Given the description of an element on the screen output the (x, y) to click on. 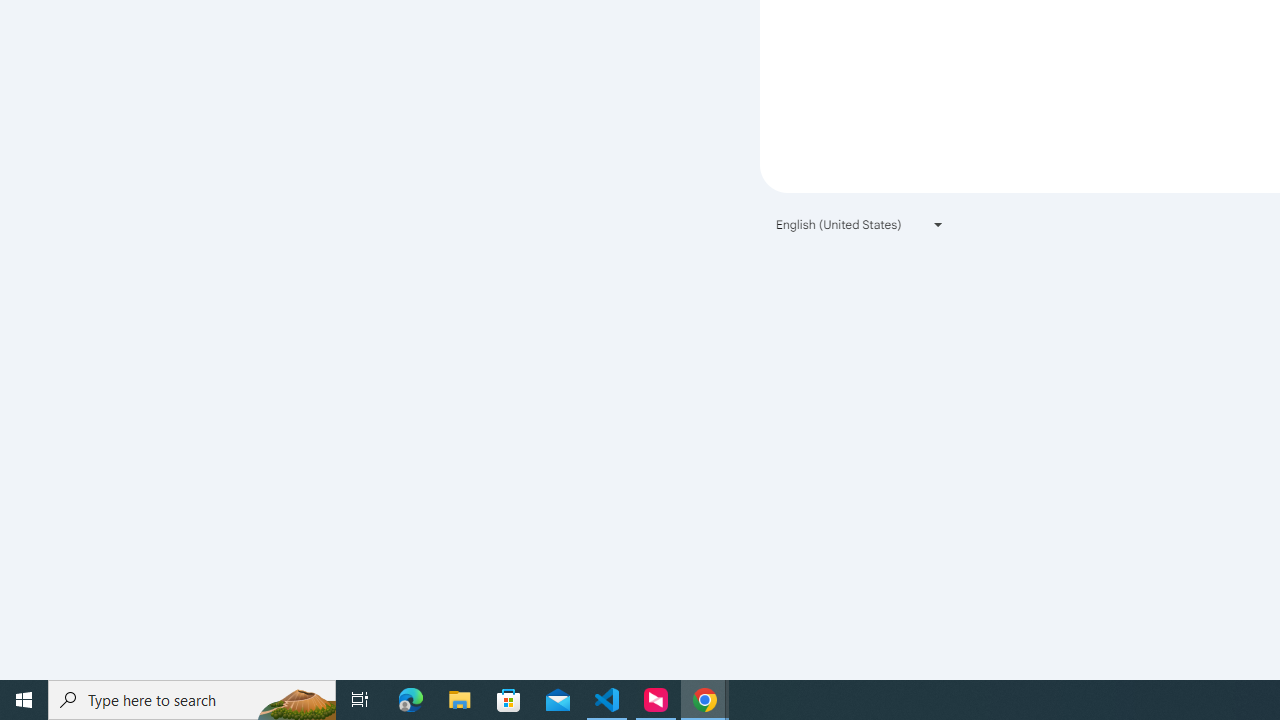
English (United States) (860, 224)
